Given the description of an element on the screen output the (x, y) to click on. 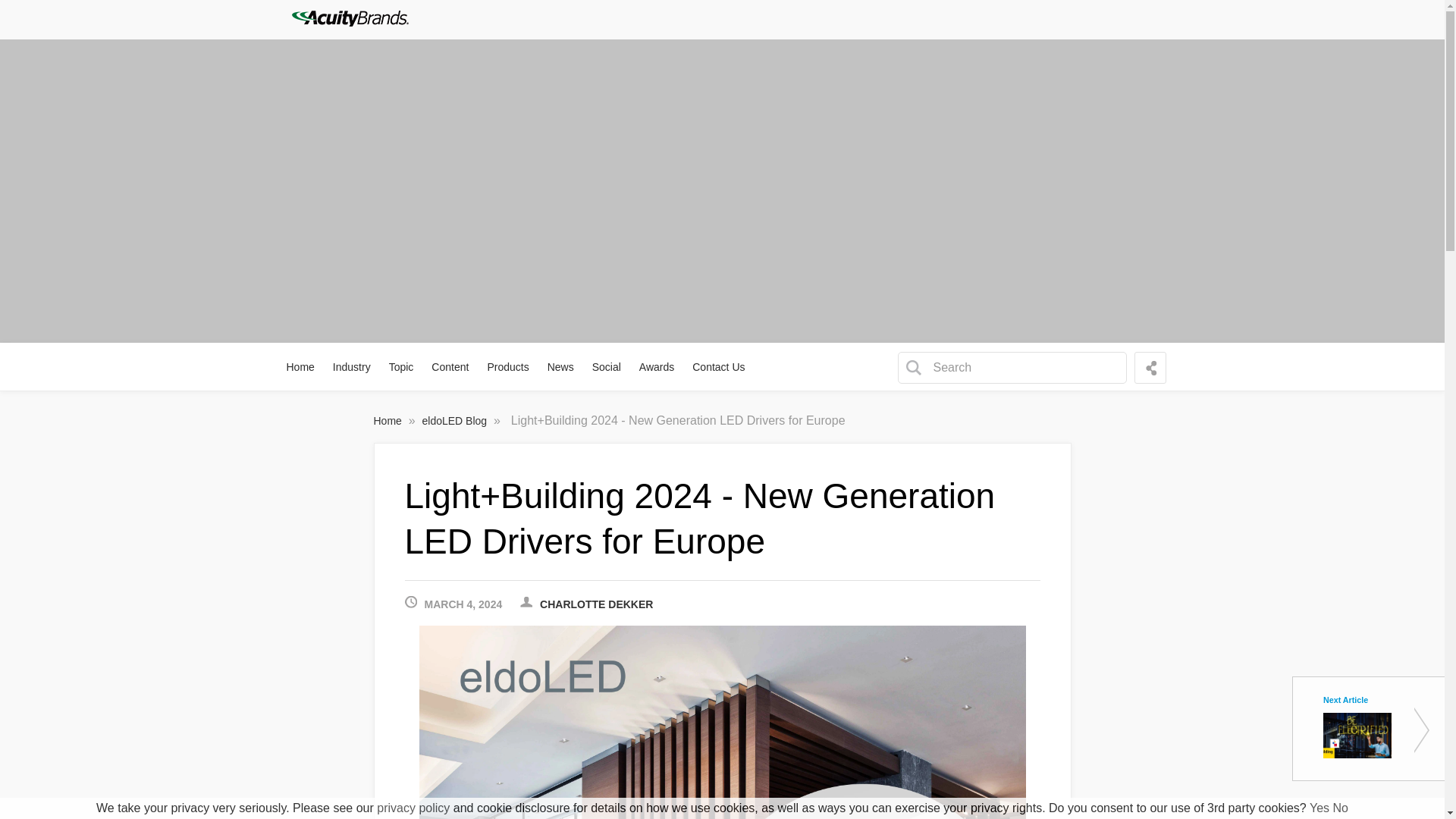
Industry (351, 366)
Topic (401, 366)
Home (301, 366)
